Given the description of an element on the screen output the (x, y) to click on. 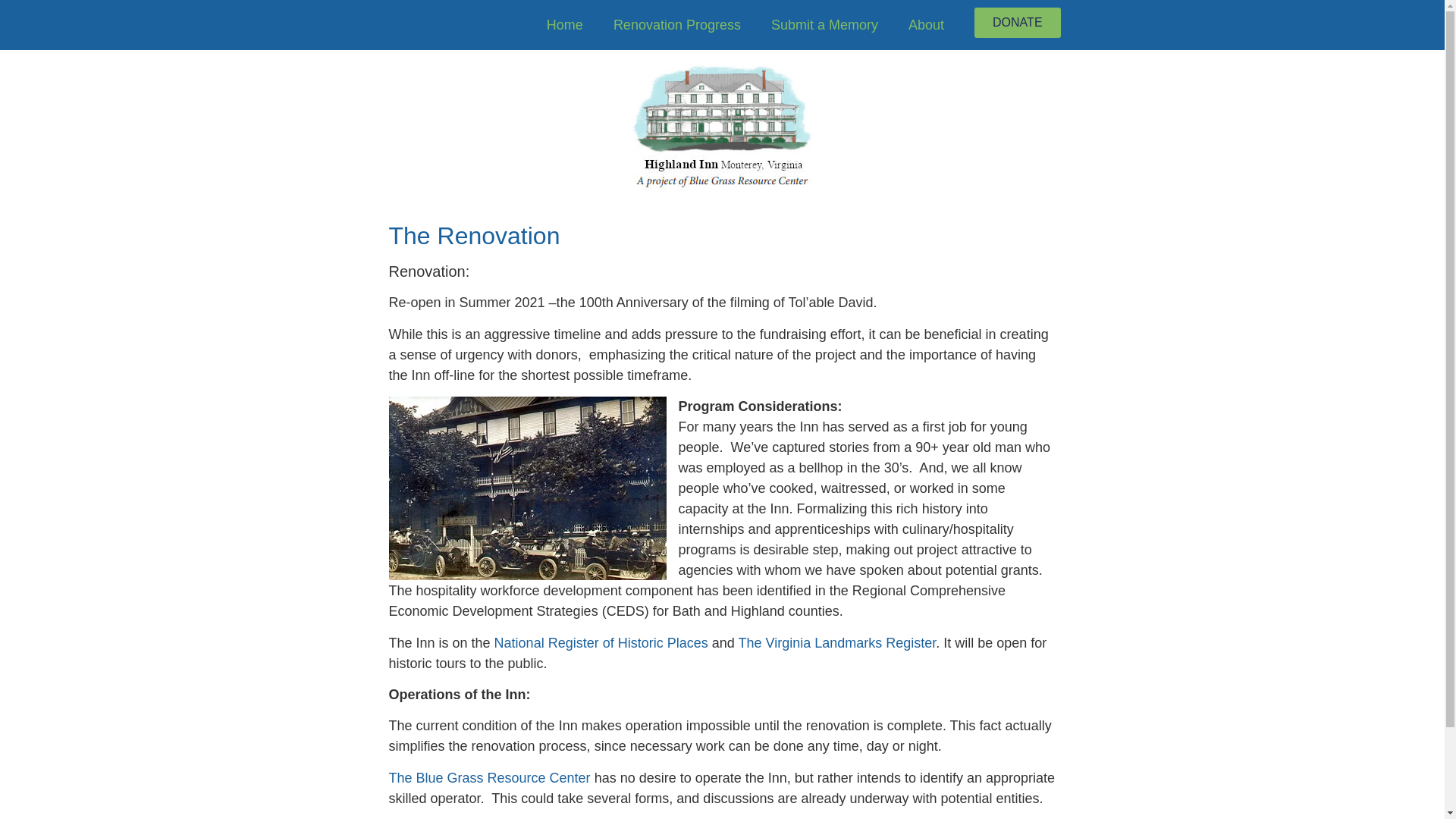
Renovation Progress (676, 24)
National Register of Historic Places (601, 642)
DONATE (1016, 22)
Home (564, 24)
The Blue Grass Resource Center (488, 777)
About (926, 24)
The Virginia Landmarks Register (837, 642)
Submit a Memory (824, 24)
